Given the description of an element on the screen output the (x, y) to click on. 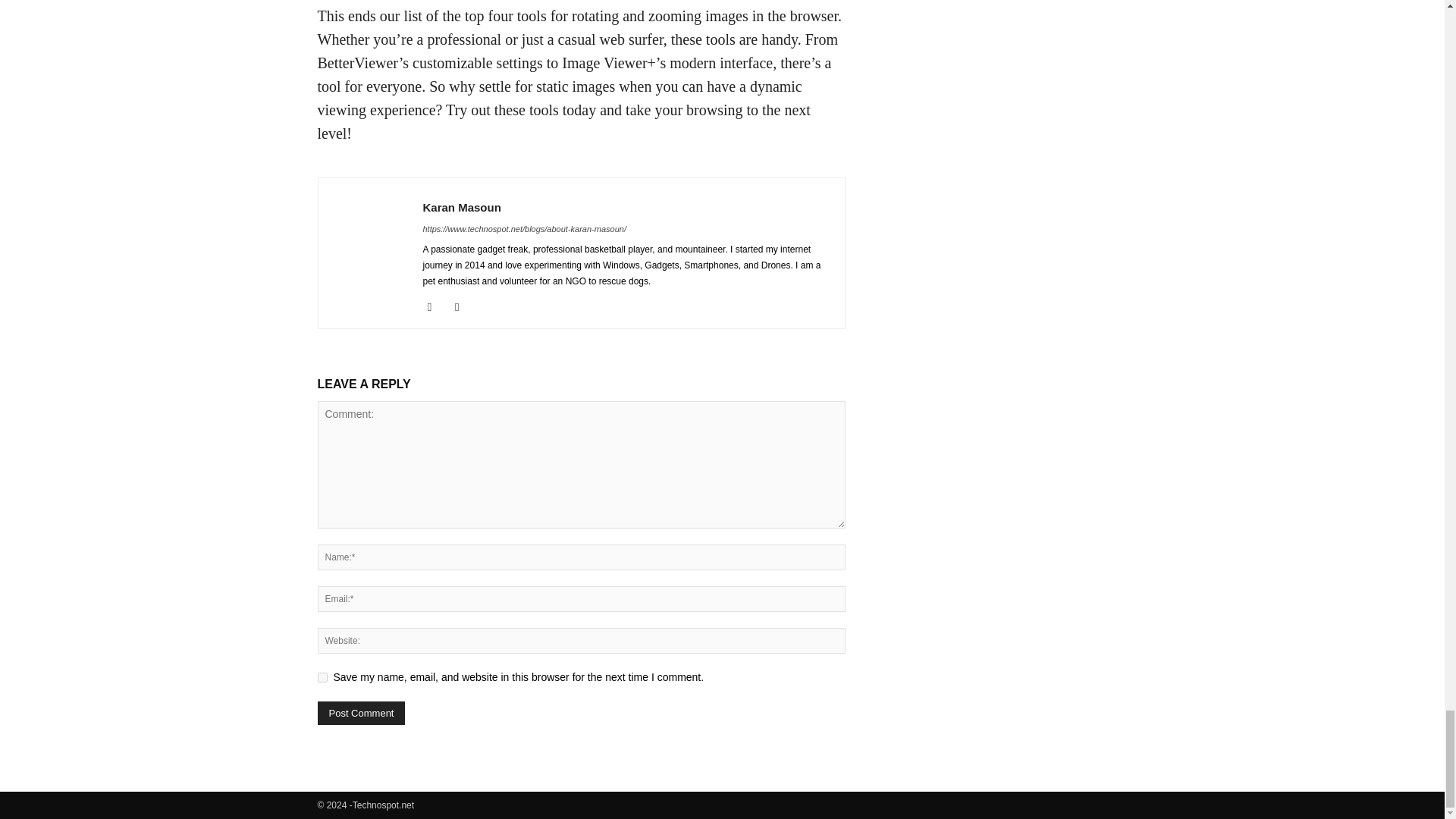
Post Comment (360, 712)
Post Comment (360, 712)
yes (321, 677)
Karan Masoun (461, 206)
